Given the description of an element on the screen output the (x, y) to click on. 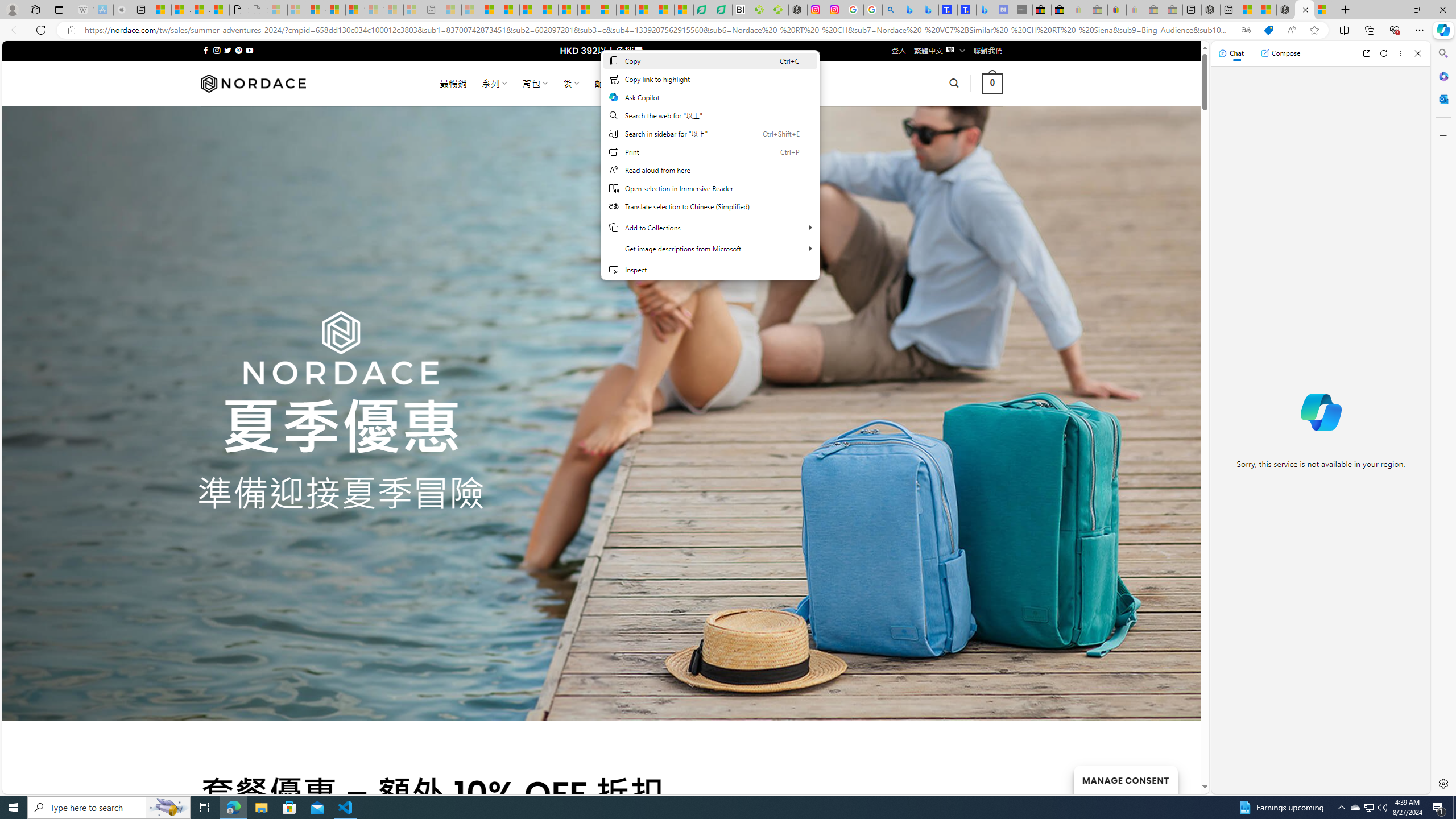
Aberdeen, Hong Kong SAR weather forecast | Microsoft Weather (180, 9)
Microsoft Bing Travel - Shangri-La Hotel Bangkok (985, 9)
Yard, Garden & Outdoor Living - Sleeping (1173, 9)
